Given the description of an element on the screen output the (x, y) to click on. 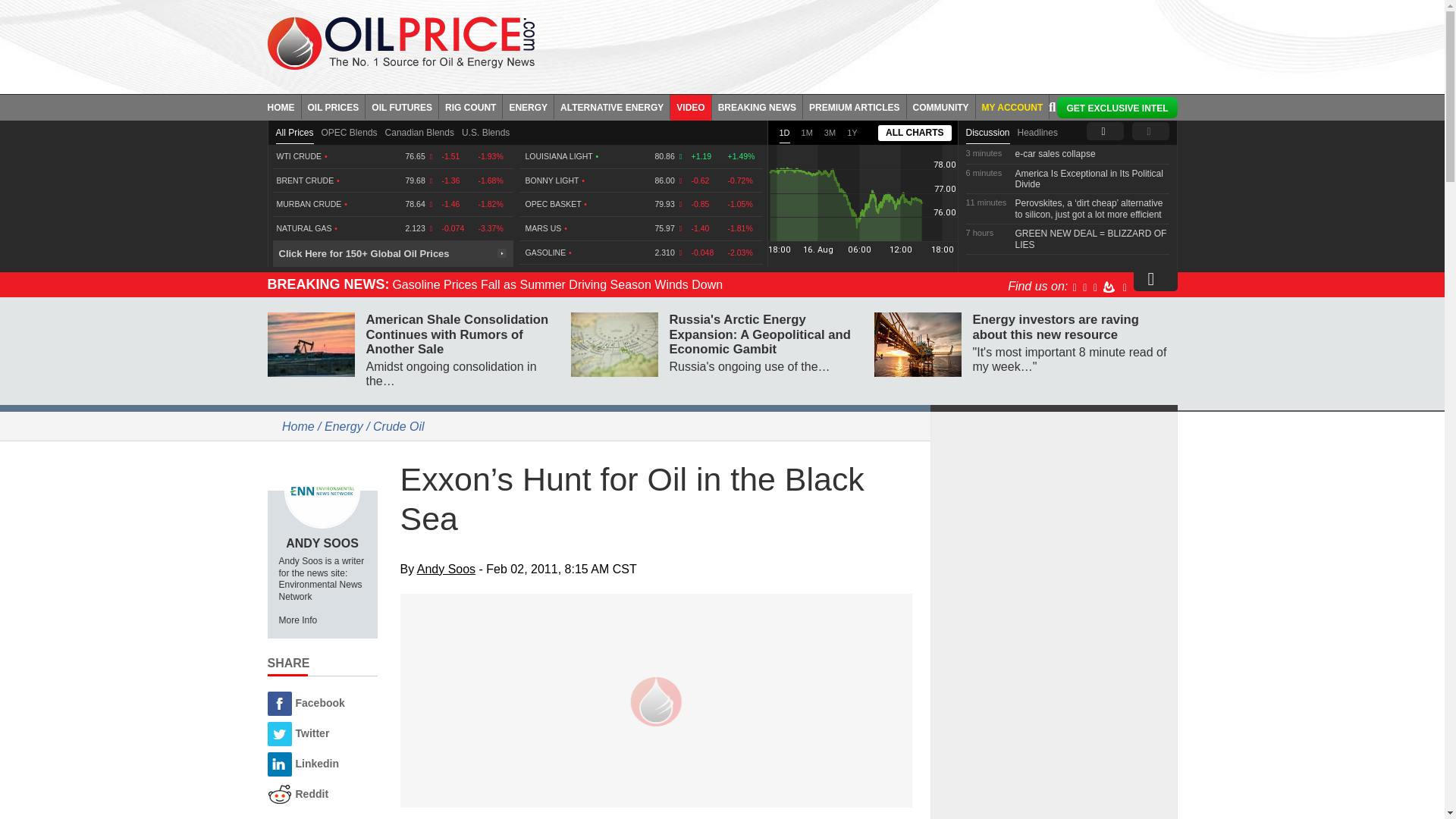
MY ACCOUNT (1012, 106)
HOME (283, 106)
PREMIUM ARTICLES (855, 106)
BREAKING NEWS (757, 106)
RIG COUNT (470, 106)
OIL PRICES (333, 106)
ALTERNATIVE ENERGY (611, 106)
Oil prices - Oilprice.com (400, 42)
